Given the description of an element on the screen output the (x, y) to click on. 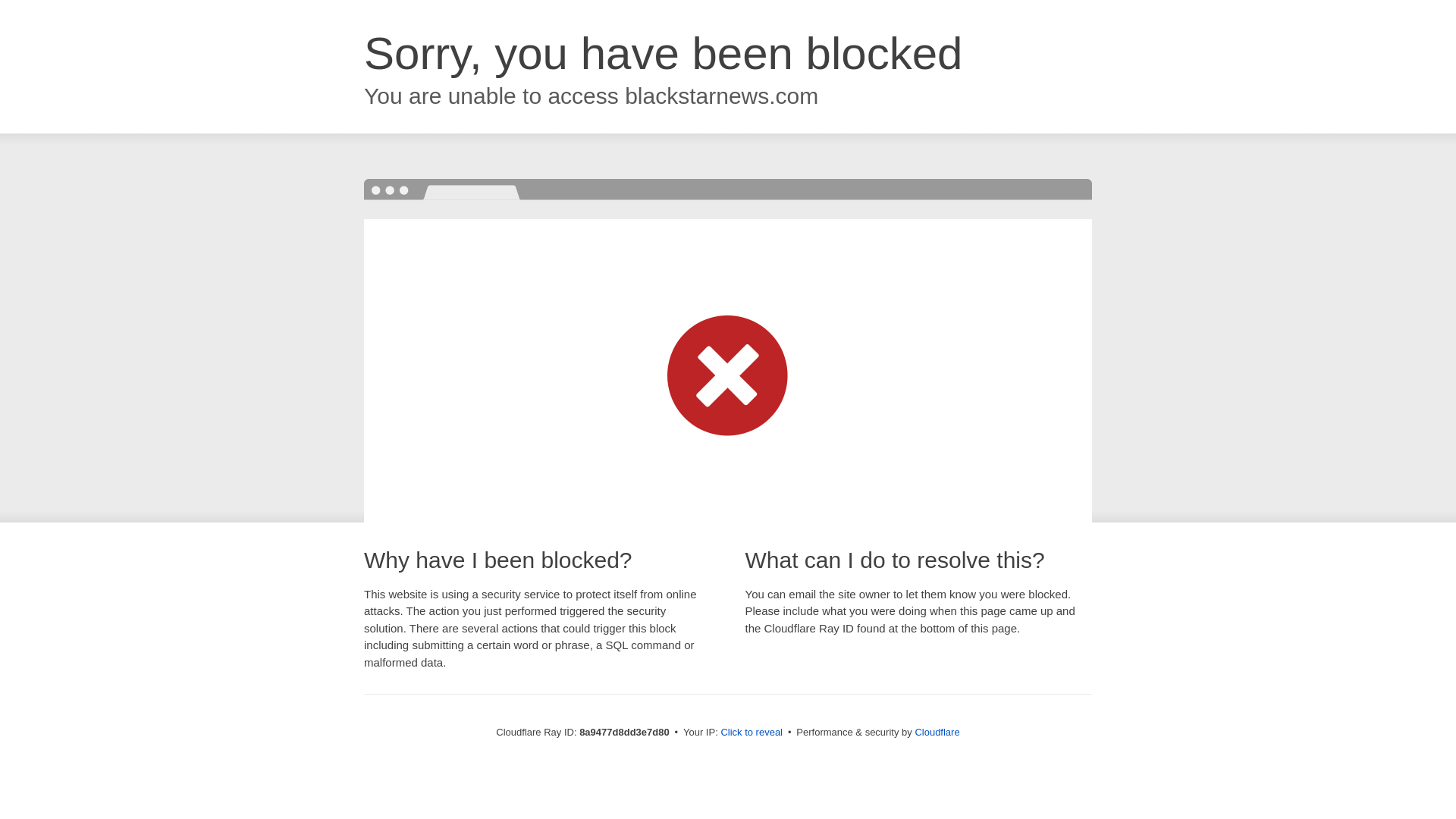
Click to reveal (751, 732)
Cloudflare (936, 731)
